Given the description of an element on the screen output the (x, y) to click on. 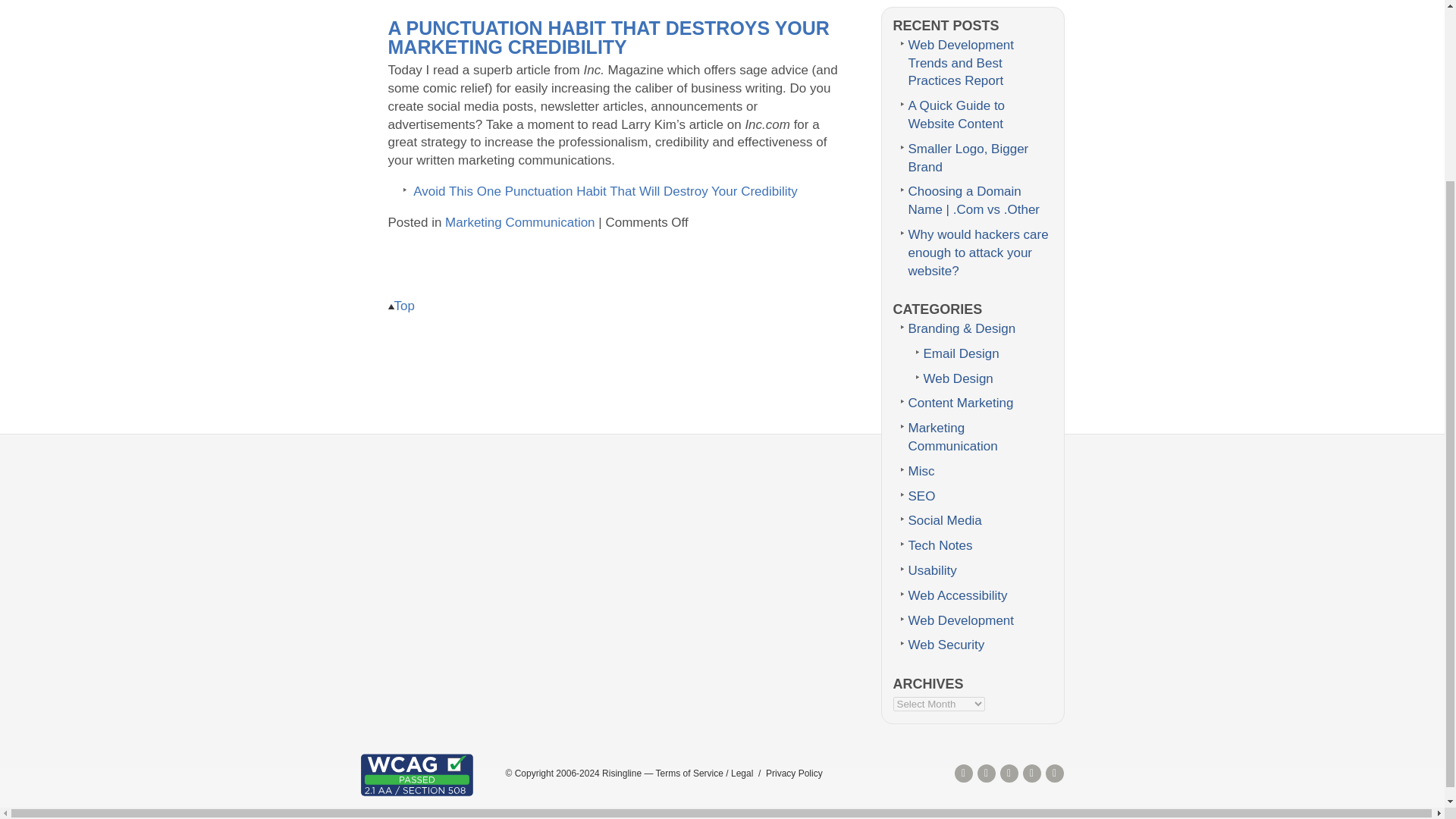
Content Marketing (960, 402)
Why would hackers care enough to attack your website? (978, 252)
Marketing Communication (519, 222)
Usability (932, 570)
Misc (921, 471)
Web Development Trends and Best Practices Report (961, 62)
Web Design (957, 378)
A PUNCTUATION HABIT THAT DESTROYS YOUR MARKETING CREDIBILITY (608, 37)
Email Design (960, 353)
SEO (922, 495)
Web Accessibility (957, 595)
Web Security (946, 644)
A Quick Guide to Website Content (957, 114)
